Given the description of an element on the screen output the (x, y) to click on. 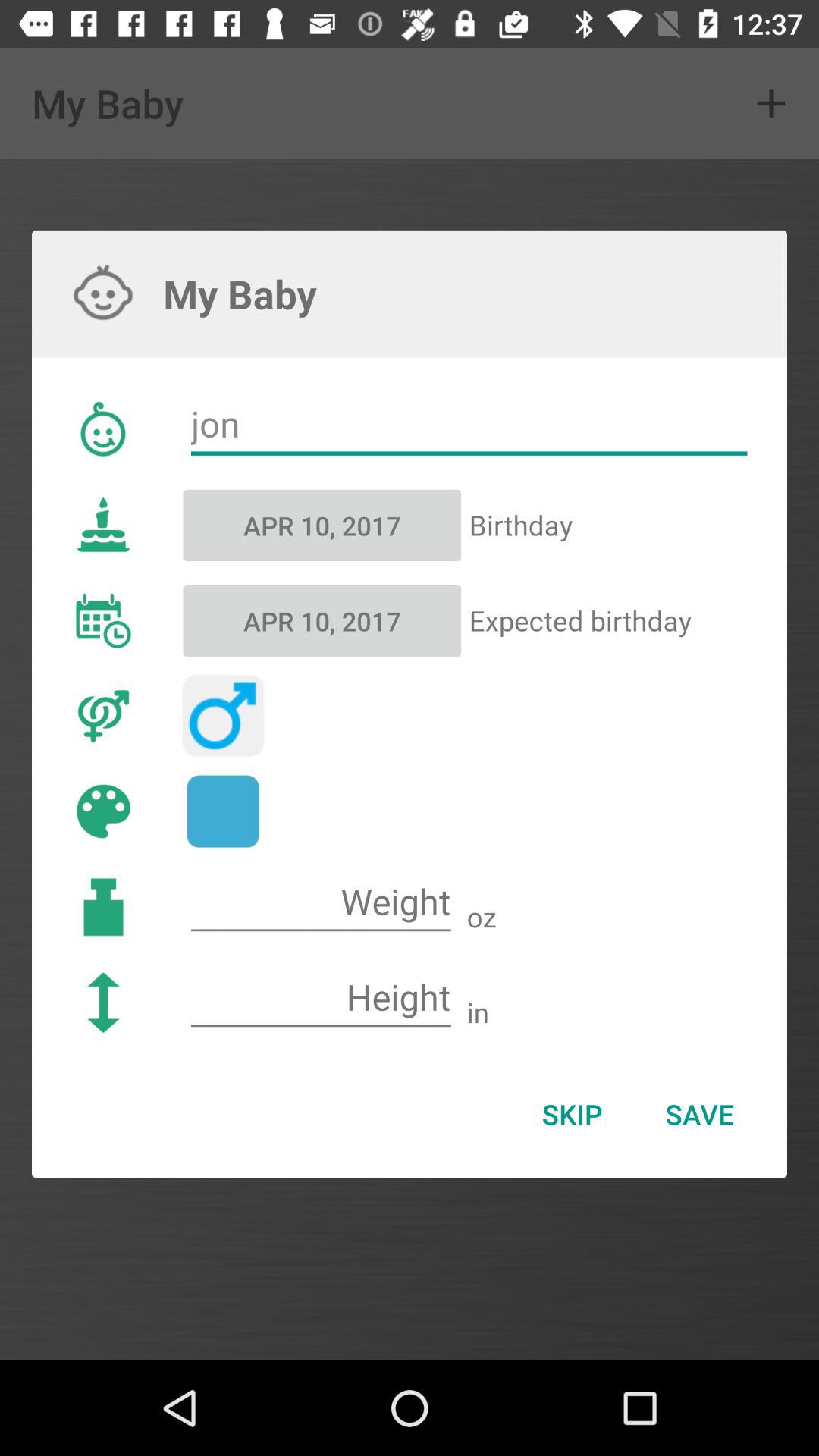
see picture (222, 811)
